Given the description of an element on the screen output the (x, y) to click on. 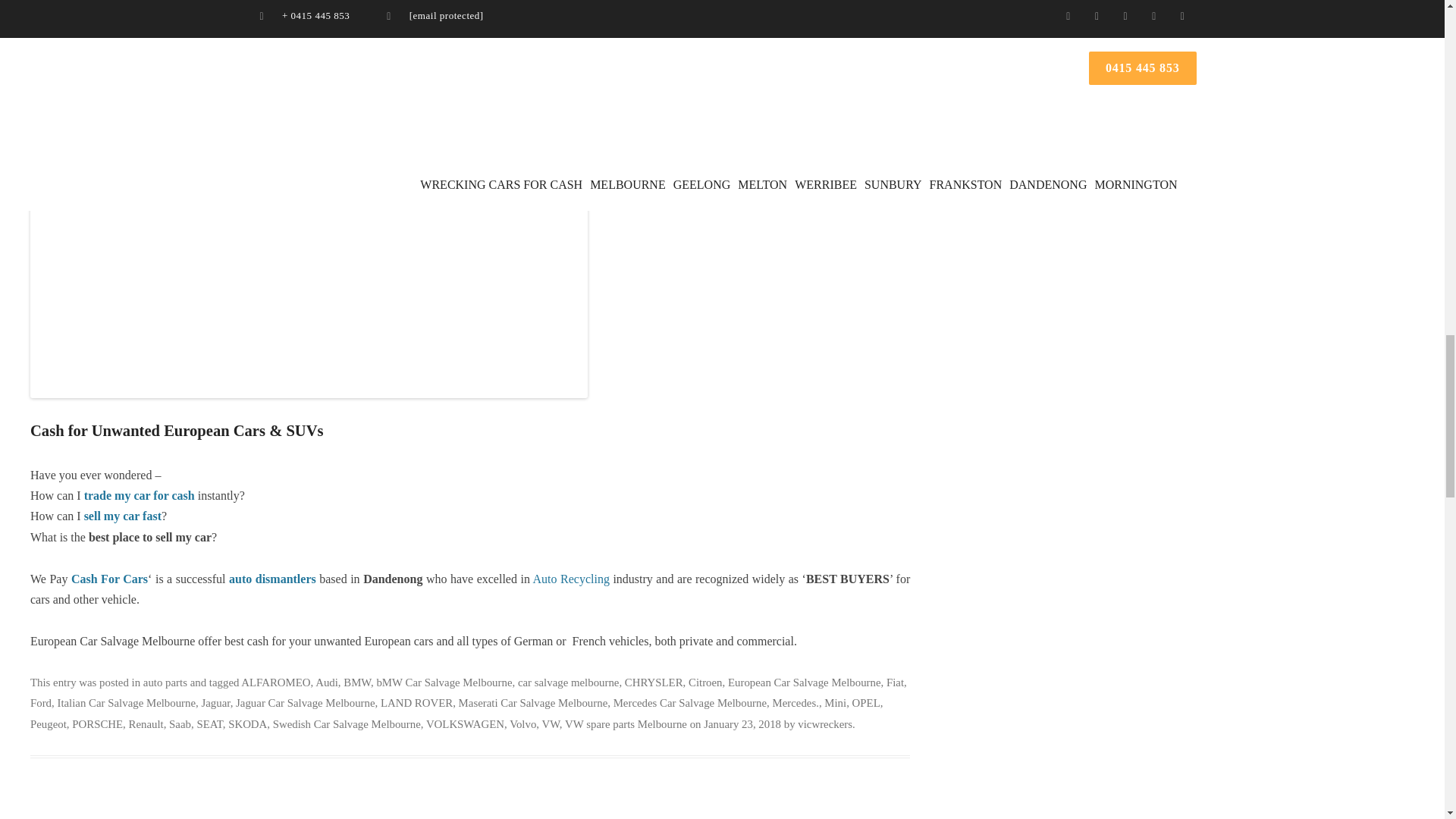
Melbourne cars wrecker (156, 101)
2:06 am (741, 724)
car recycling auckland (571, 578)
View all posts by vicwreckers (824, 724)
sell my car fast west auckland (122, 515)
auto dismantlers (297, 142)
auto dismantlers brisbane (271, 578)
cash for cars rockingham (109, 578)
trade my car for cash (139, 495)
